Given the description of an element on the screen output the (x, y) to click on. 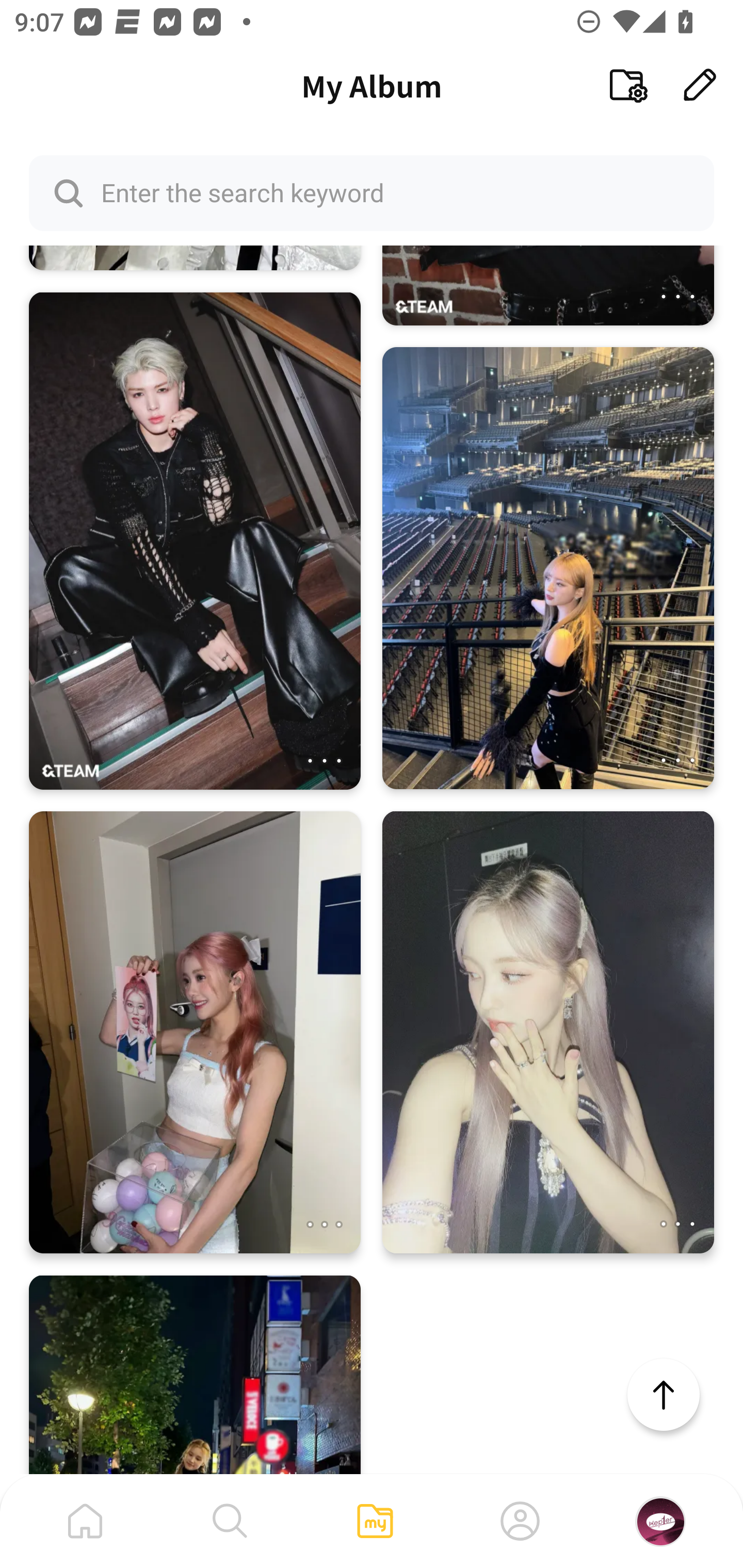
Enter the search keyword (371, 192)
